Given the description of an element on the screen output the (x, y) to click on. 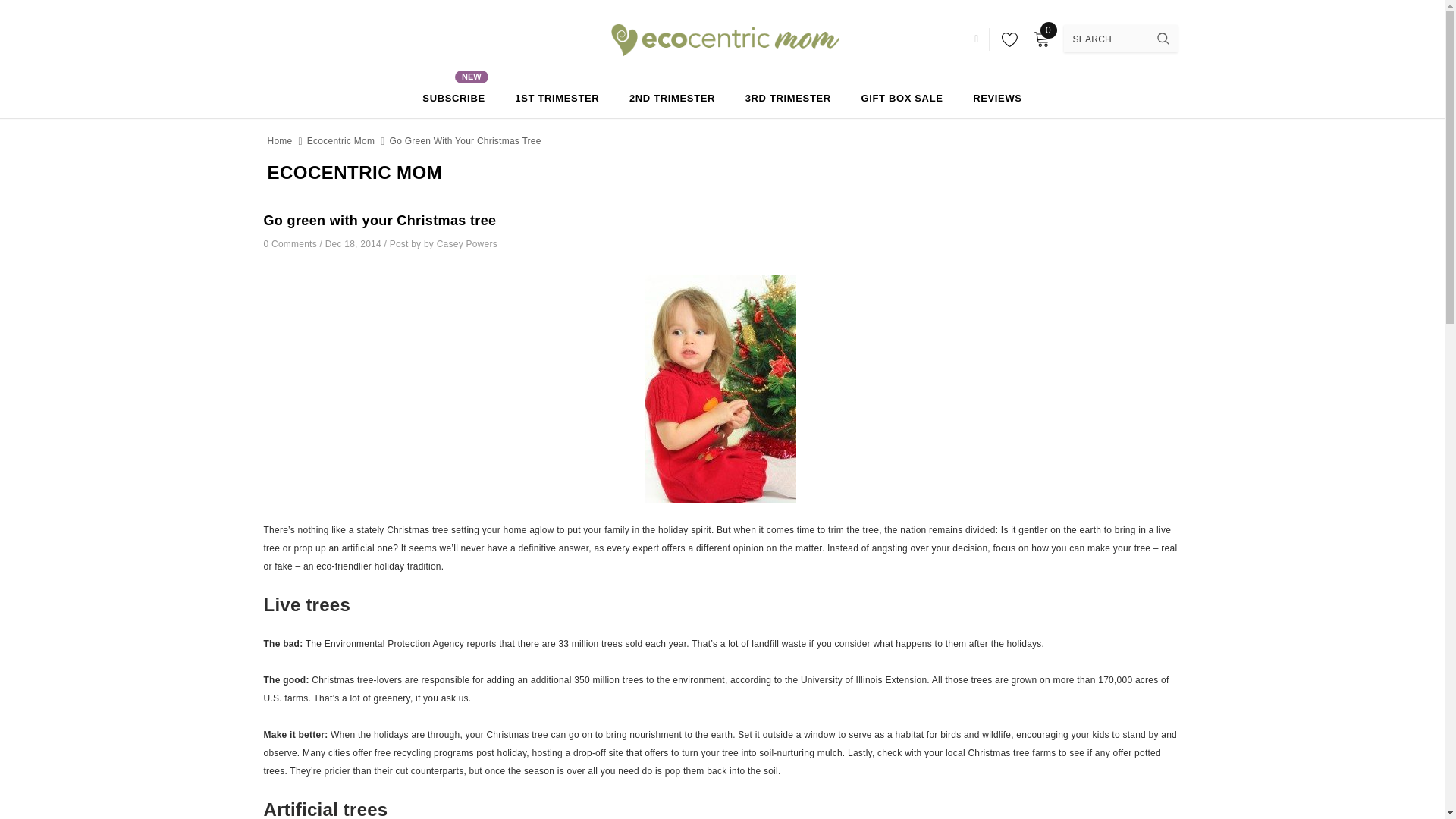
3RD TRIMESTER (788, 96)
2ND TRIMESTER (671, 96)
0 (1040, 39)
Logo (721, 37)
My Wishlists (1005, 39)
Cart Icon (453, 96)
1ST TRIMESTER (1040, 39)
SIGN IN (556, 96)
